Given the description of an element on the screen output the (x, y) to click on. 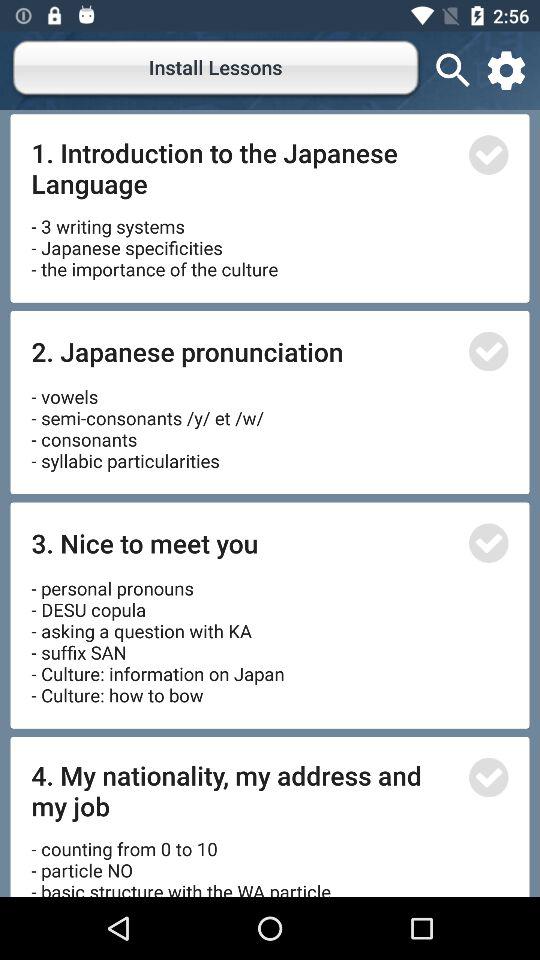
select lessons (488, 351)
